Given the description of an element on the screen output the (x, y) to click on. 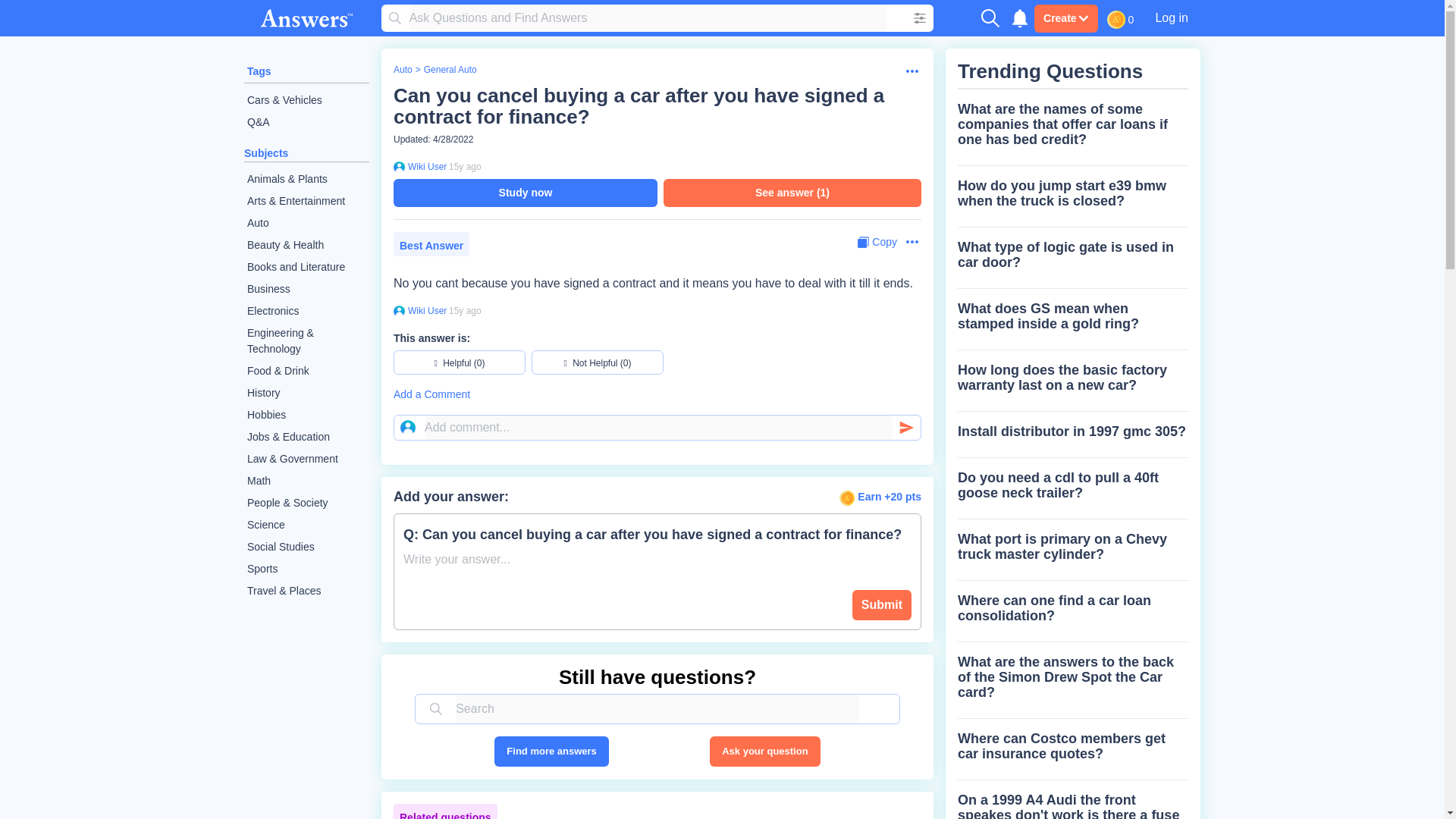
Log in (1170, 17)
Business (306, 289)
Subjects (266, 152)
Auto (306, 223)
Copy (876, 242)
Electronics (306, 311)
Create (1065, 18)
2009-06-04 10:43:01 (464, 166)
Sports (306, 568)
Math (306, 481)
Add a Comment (657, 394)
2009-06-04 10:43:01 (464, 310)
Auto (402, 69)
Tags (258, 70)
